Given the description of an element on the screen output the (x, y) to click on. 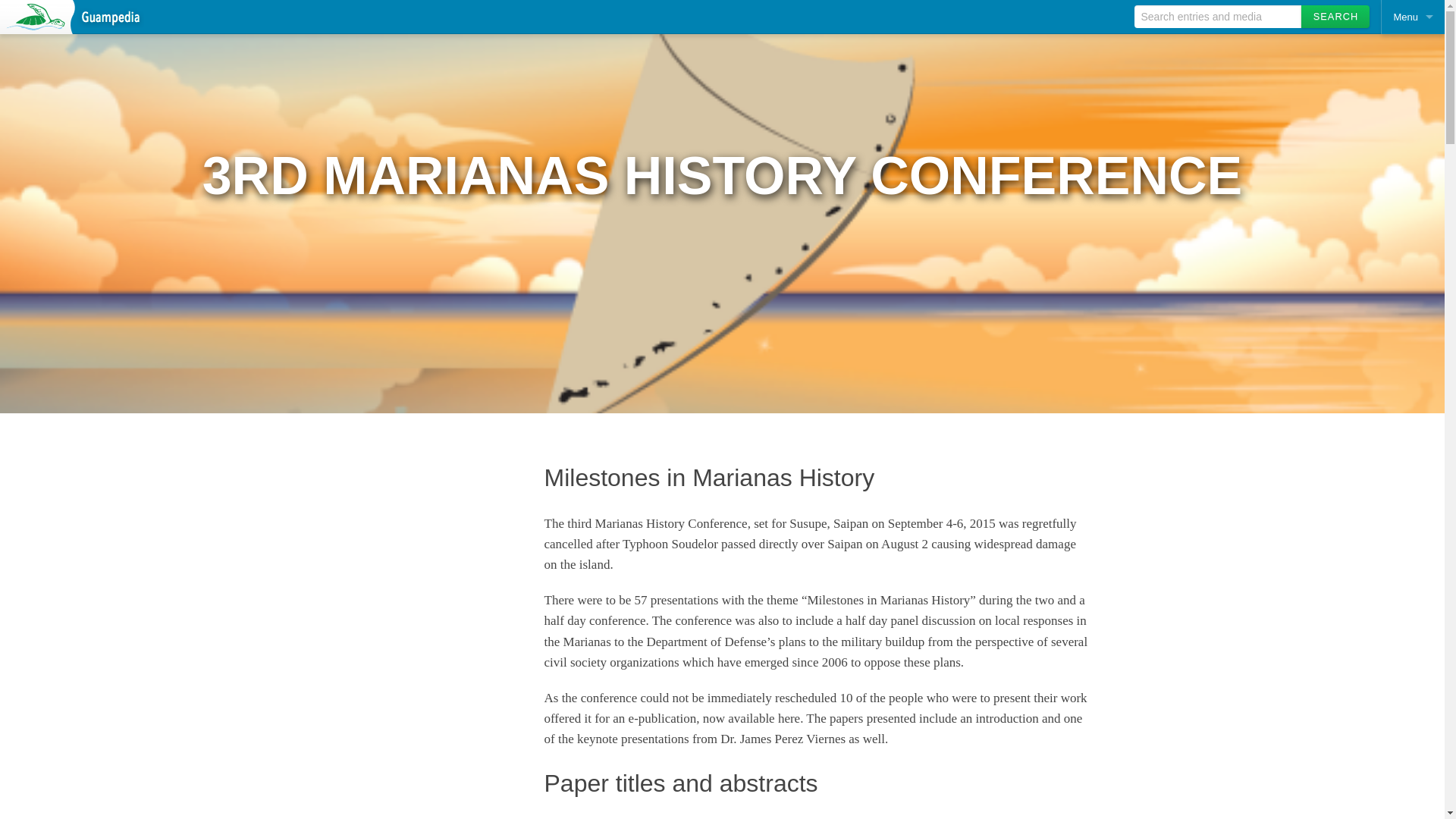
Guampedia (72, 17)
Search (1335, 15)
Search (1335, 15)
Guampedia (72, 17)
